Given the description of an element on the screen output the (x, y) to click on. 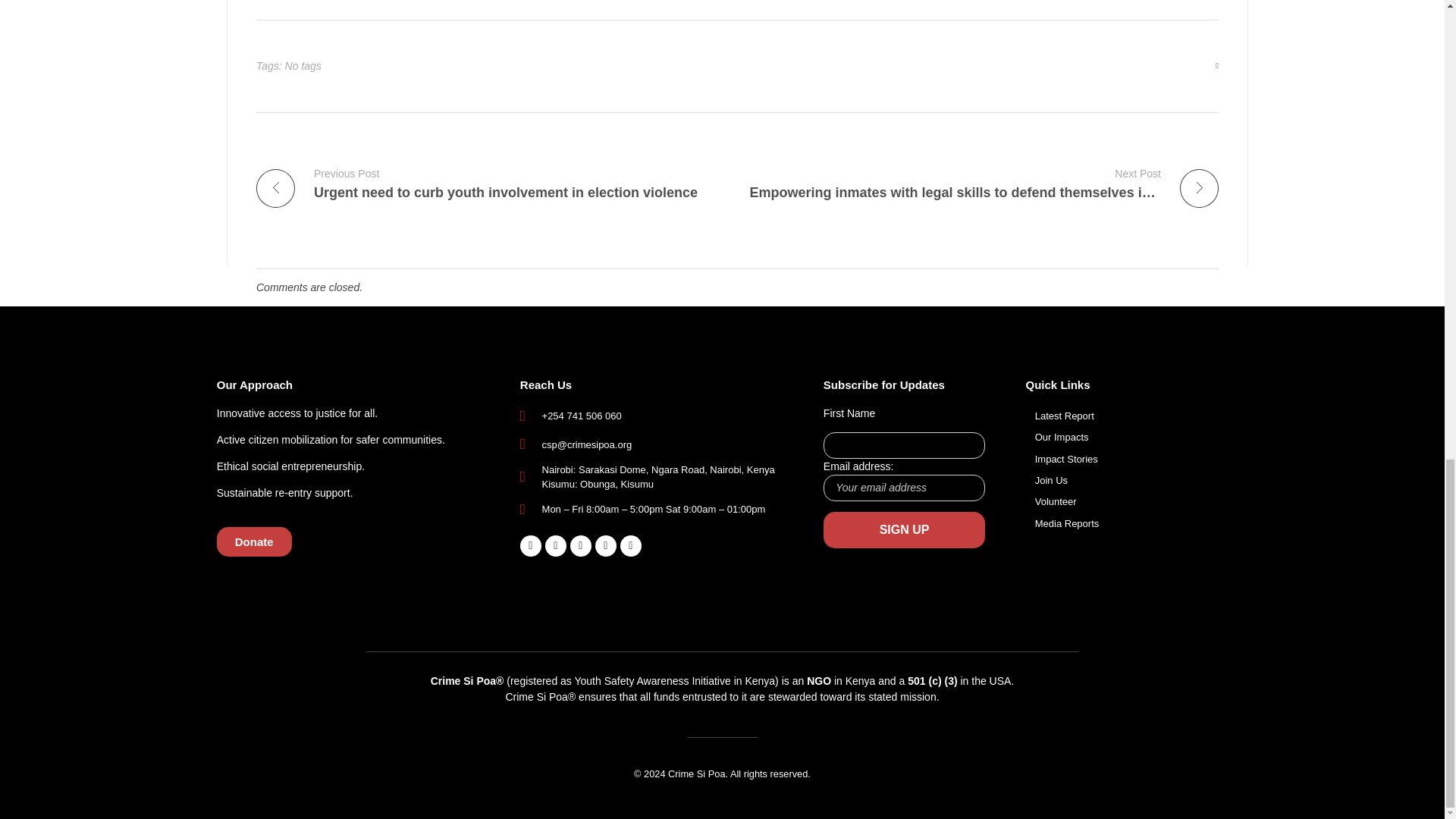
Donate (254, 541)
Sign up (904, 529)
